Given the description of an element on the screen output the (x, y) to click on. 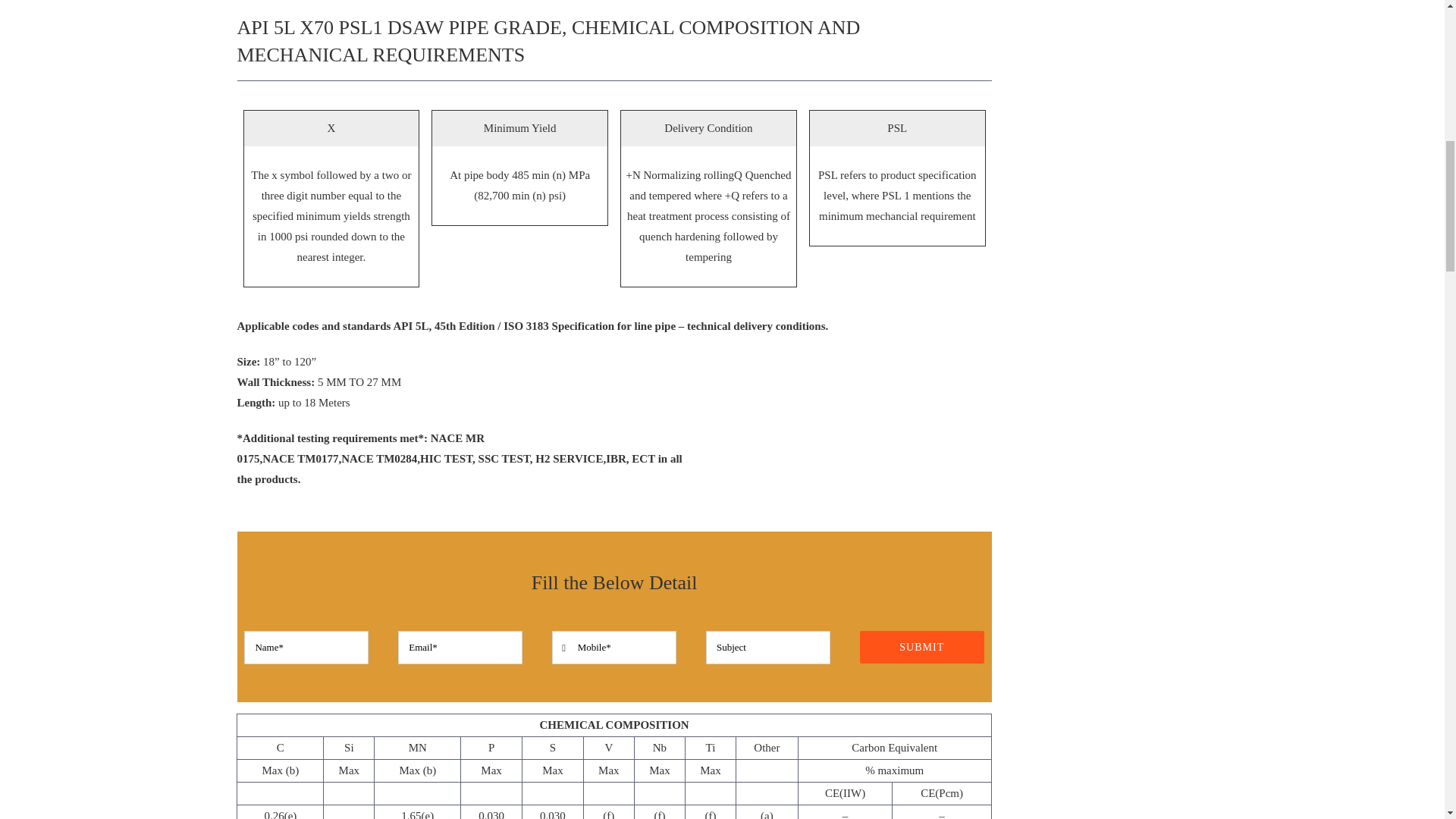
Only numbers and phone characters are accepted. (614, 647)
SUBMIT (614, 641)
